Given the description of an element on the screen output the (x, y) to click on. 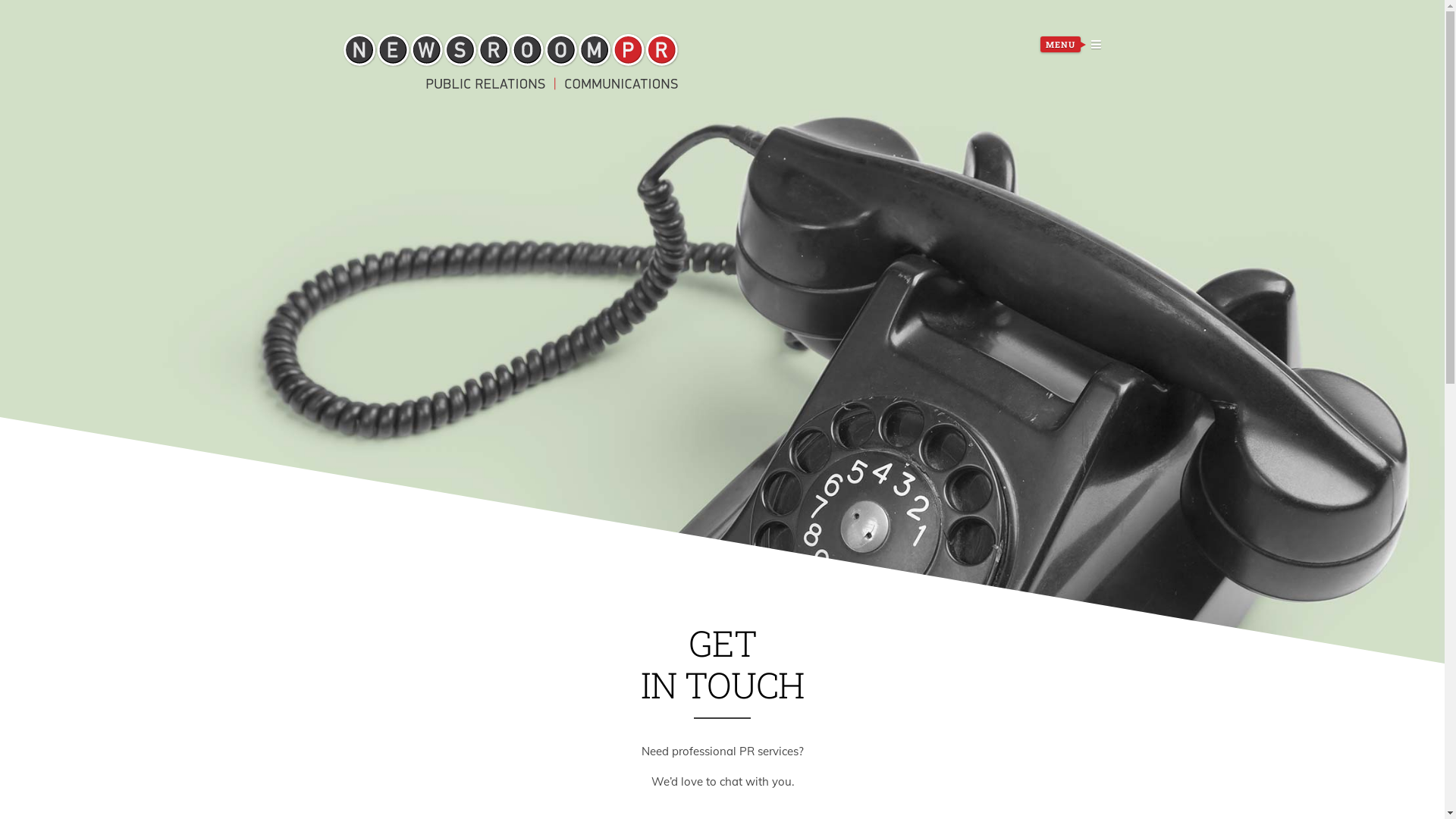
MENU Element type: text (1070, 45)
Newsroompr Element type: hover (510, 60)
Previous Element type: text (401, 265)
Next Element type: text (1042, 265)
